Given the description of an element on the screen output the (x, y) to click on. 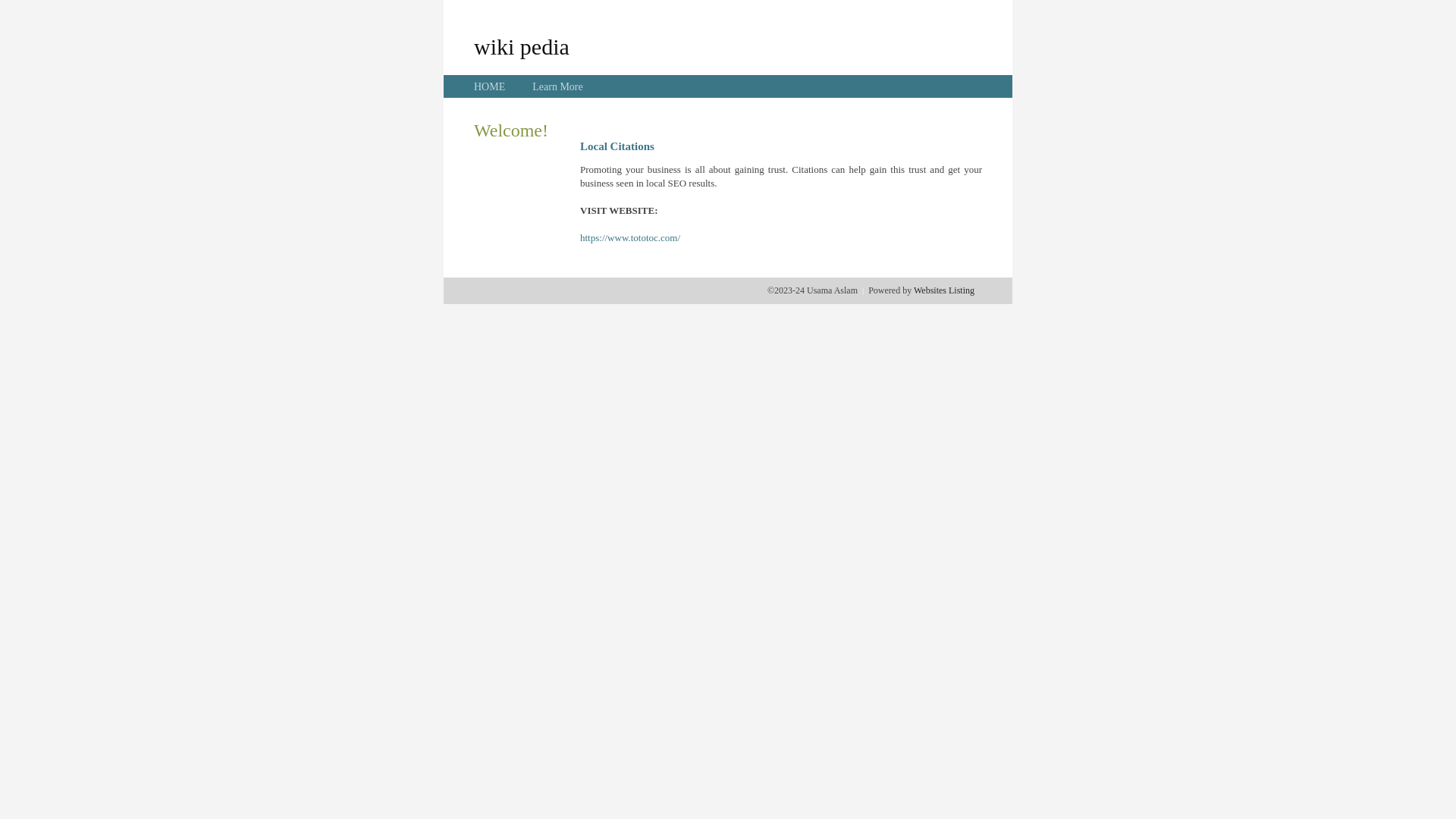
wiki pedia Element type: text (521, 46)
Websites Listing Element type: text (943, 290)
Learn More Element type: text (557, 86)
https://www.tototoc.com/ Element type: text (630, 237)
HOME Element type: text (489, 86)
